Given the description of an element on the screen output the (x, y) to click on. 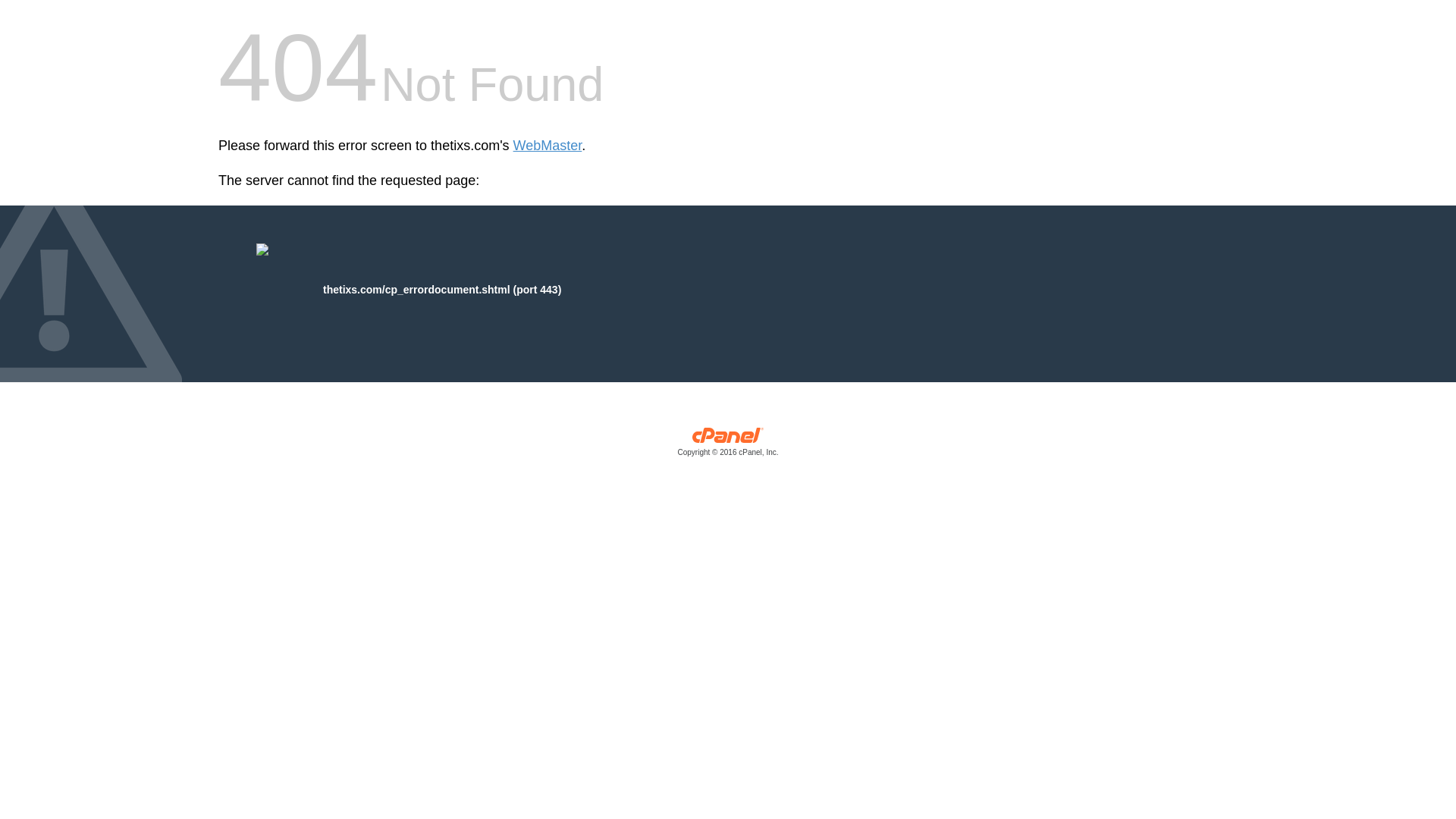
cPanel, Inc. (727, 445)
WebMaster (547, 145)
